Given the description of an element on the screen output the (x, y) to click on. 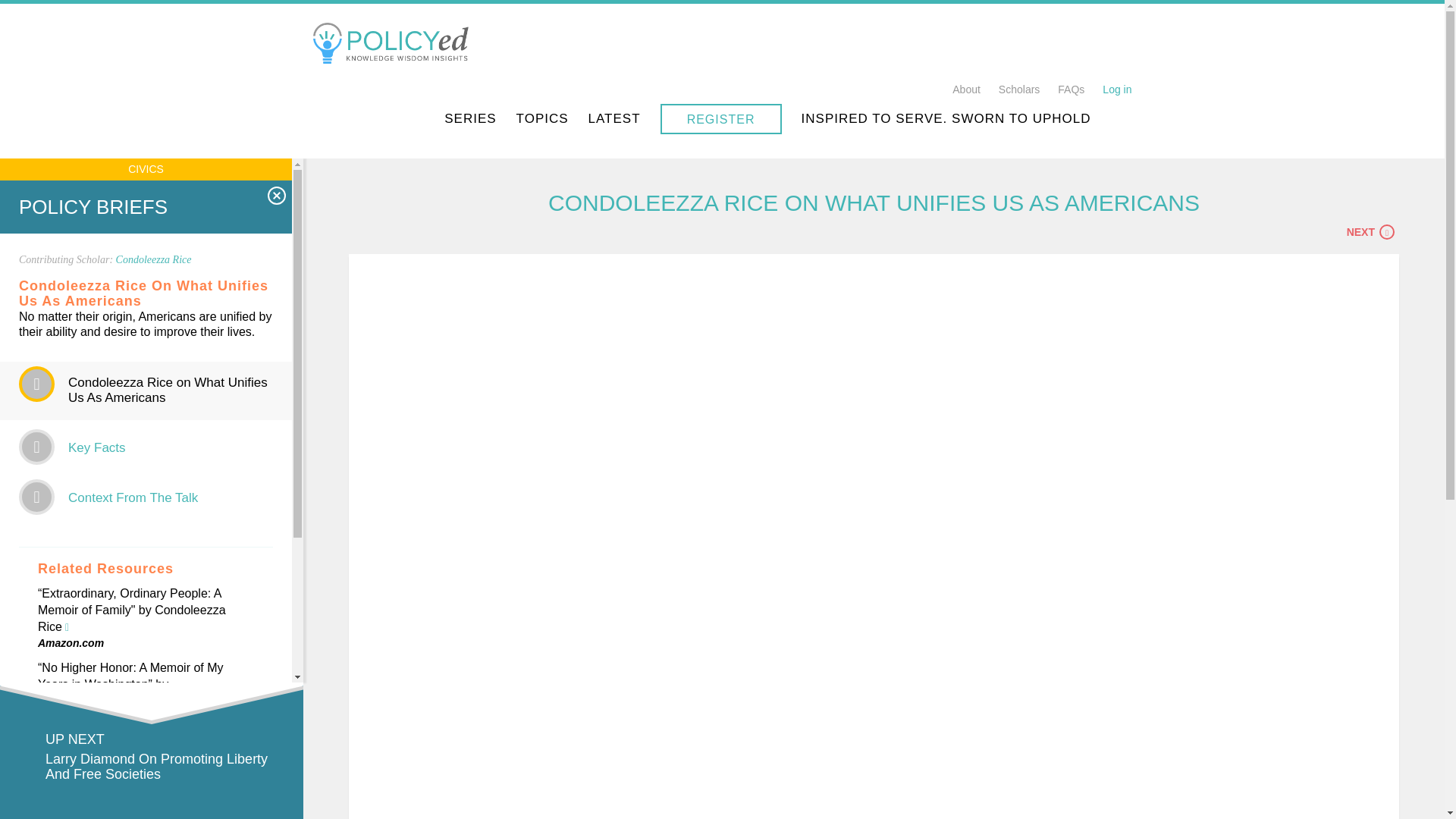
Key Facts (96, 447)
Search (1170, 118)
Home (394, 41)
Key Facts (1372, 232)
FAQs (1071, 89)
About (965, 89)
NEXT (1372, 232)
POLICY BRIEFS (92, 206)
Context From The Talk (133, 498)
Condoleezza Rice (154, 259)
